Given the description of an element on the screen output the (x, y) to click on. 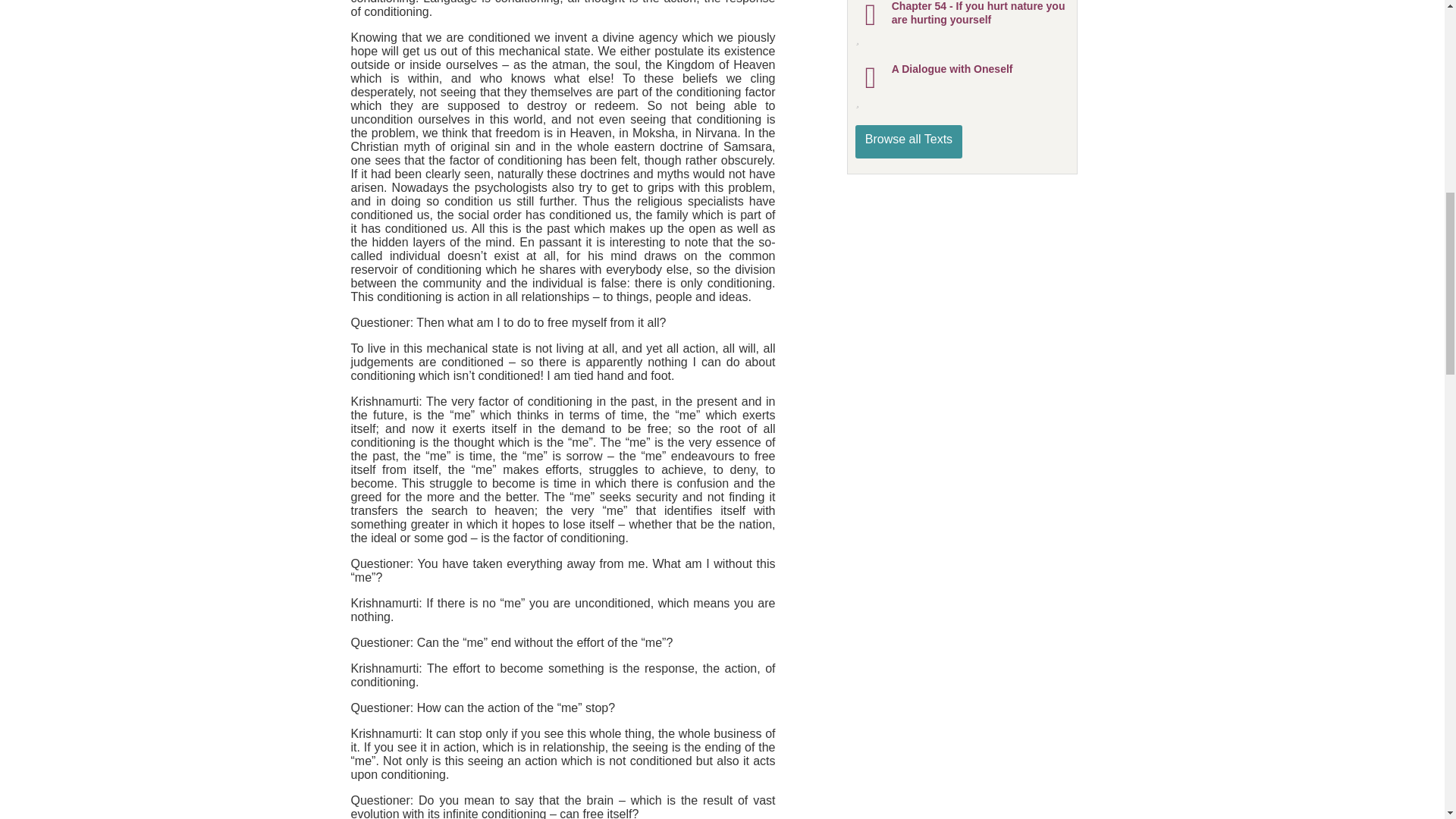
Save (874, 38)
Save (874, 101)
Chapter 54 - If you hurt nature you are hurting yourself (979, 13)
